Given the description of an element on the screen output the (x, y) to click on. 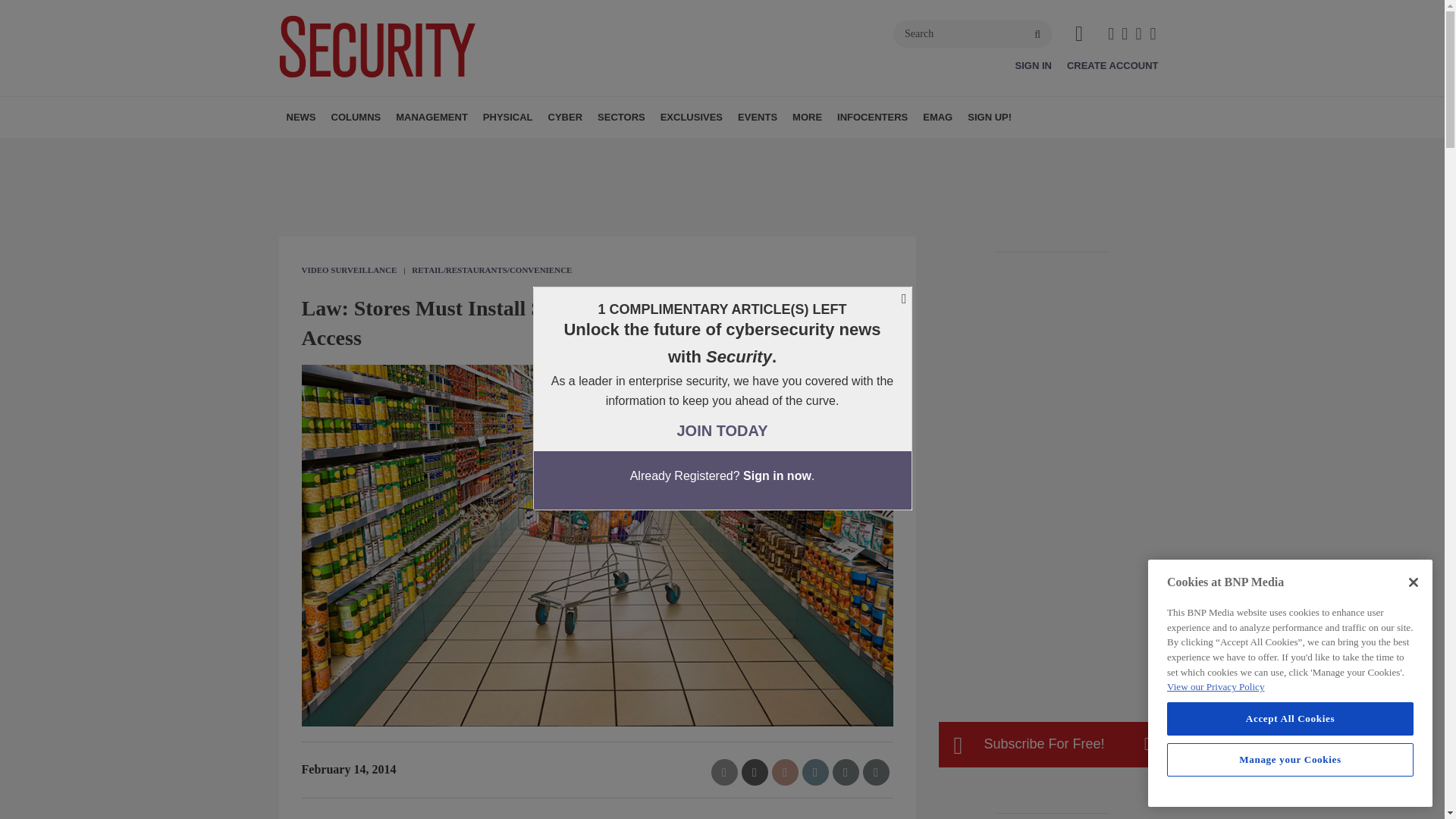
Search (972, 33)
Search (972, 33)
